Given the description of an element on the screen output the (x, y) to click on. 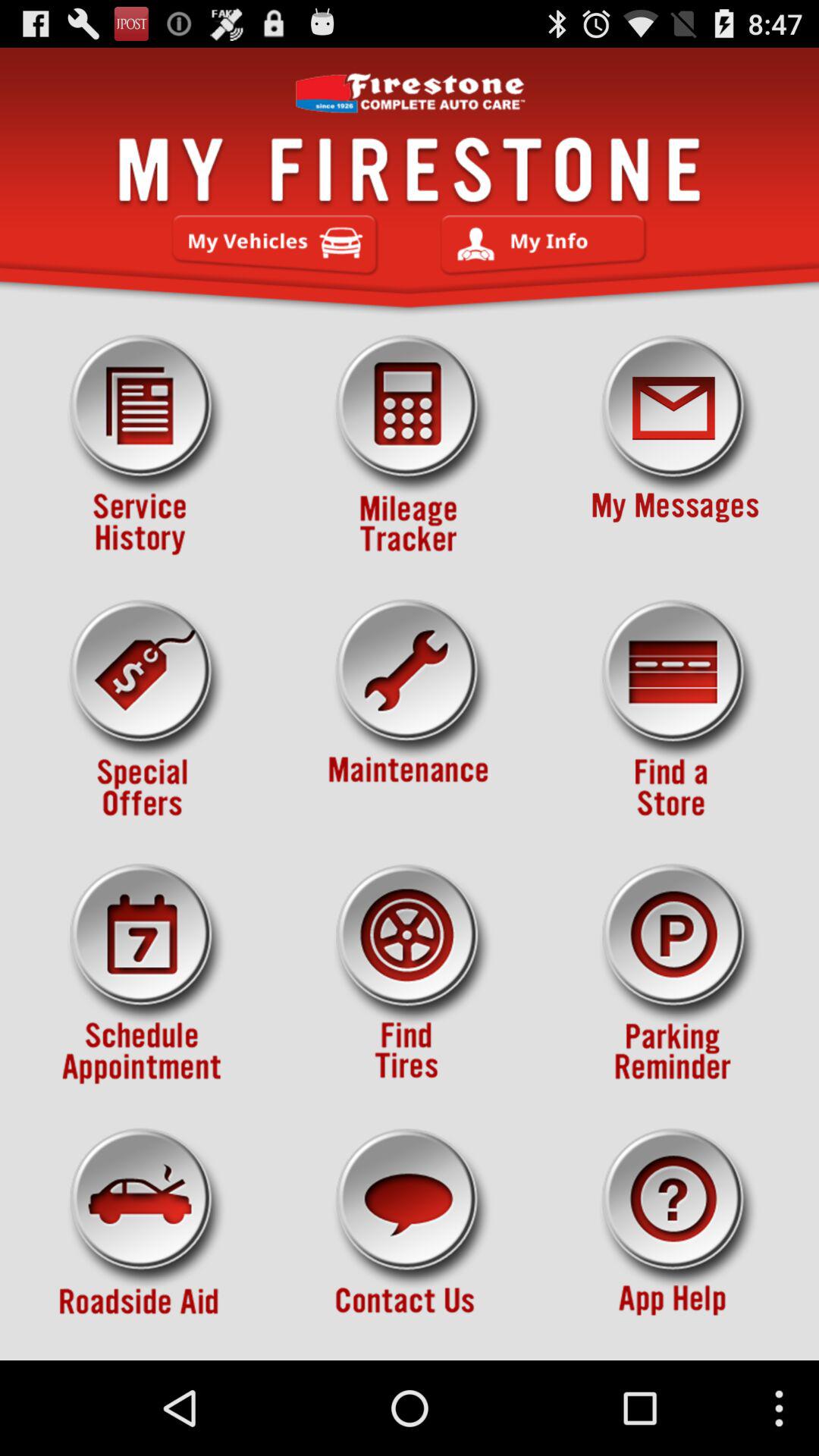
show special offers (143, 709)
